Given the description of an element on the screen output the (x, y) to click on. 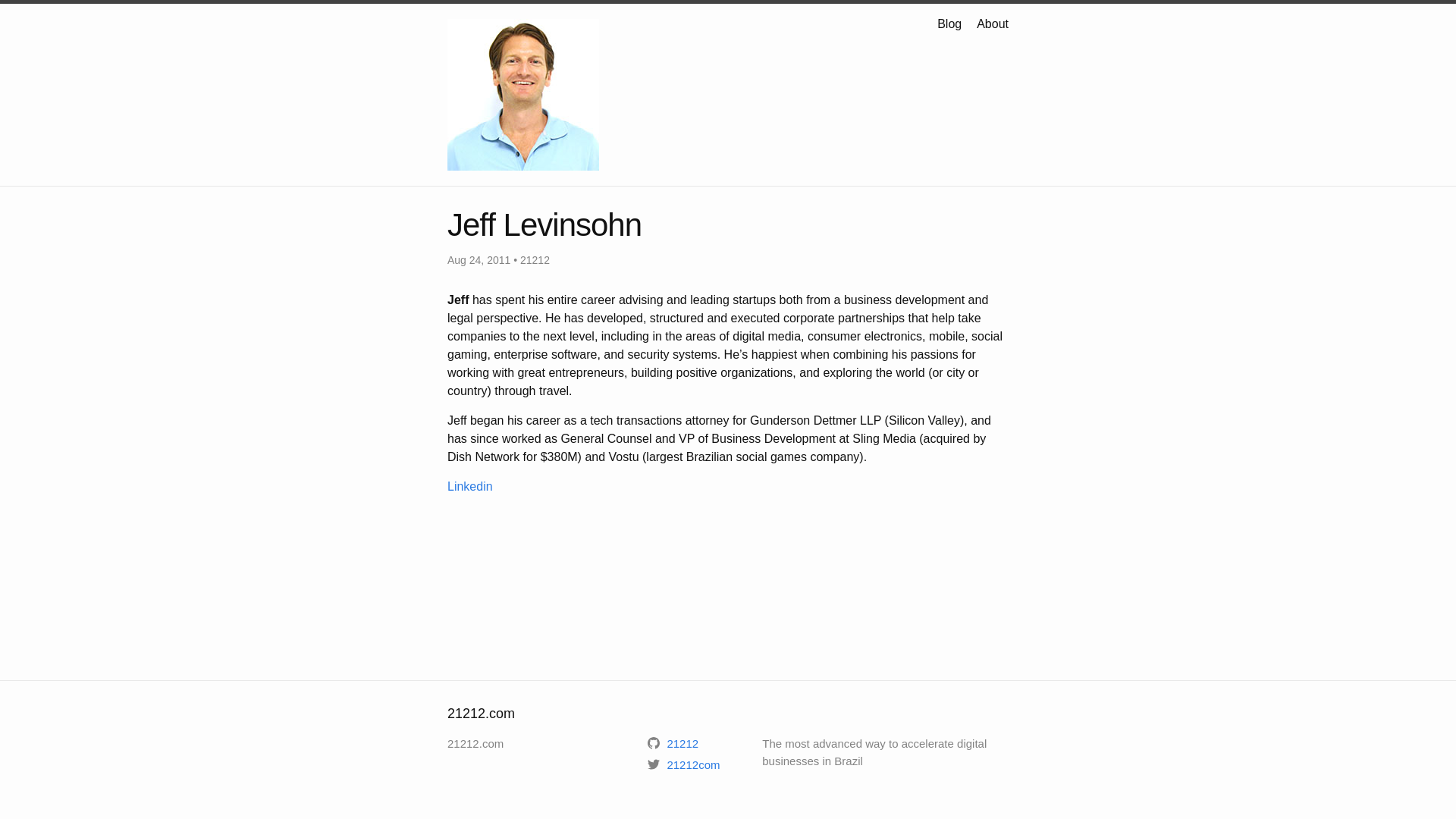
About Element type: text (992, 23)
21212 Element type: text (672, 743)
Blog Element type: text (949, 23)
Linkedin Element type: text (469, 486)
21212com Element type: text (683, 764)
